Given the description of an element on the screen output the (x, y) to click on. 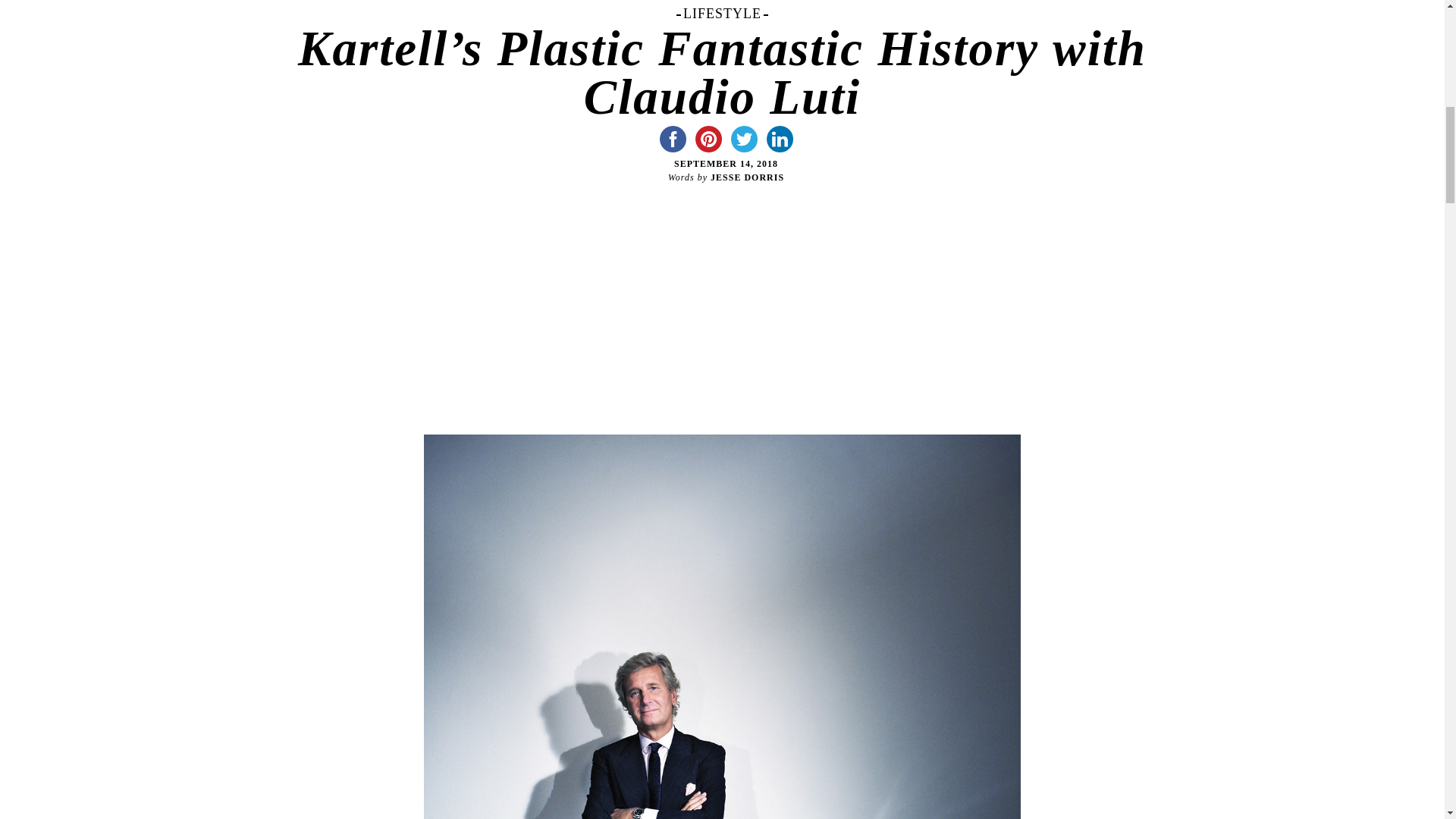
Twitter (743, 139)
LinkedIn (778, 139)
Facebook (672, 139)
Pinterest (707, 139)
